Given the description of an element on the screen output the (x, y) to click on. 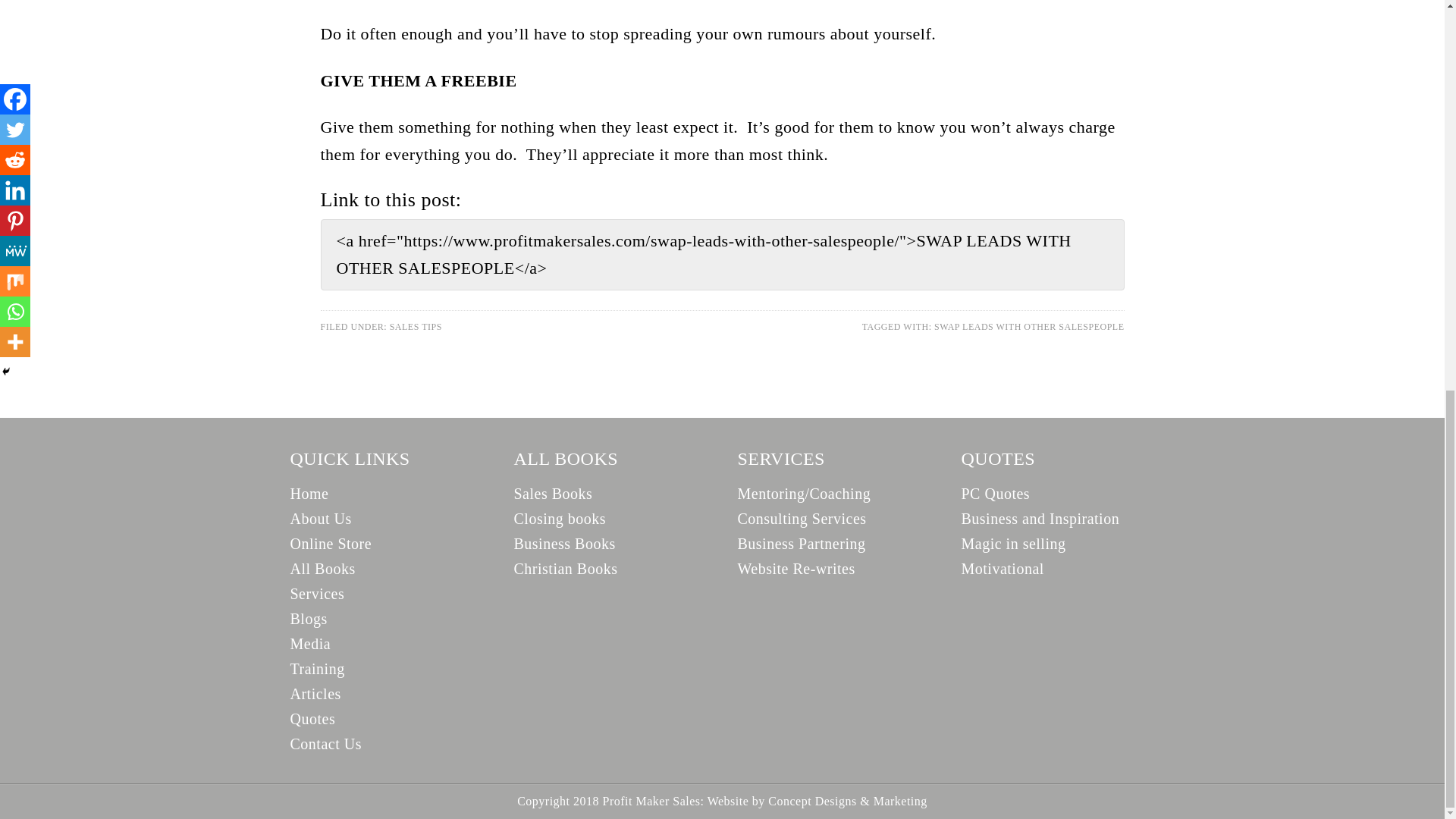
SALES TIPS (416, 326)
About Us (319, 518)
SWAP LEADS WITH OTHER SALESPEOPLE (1029, 326)
Home (309, 493)
